Given the description of an element on the screen output the (x, y) to click on. 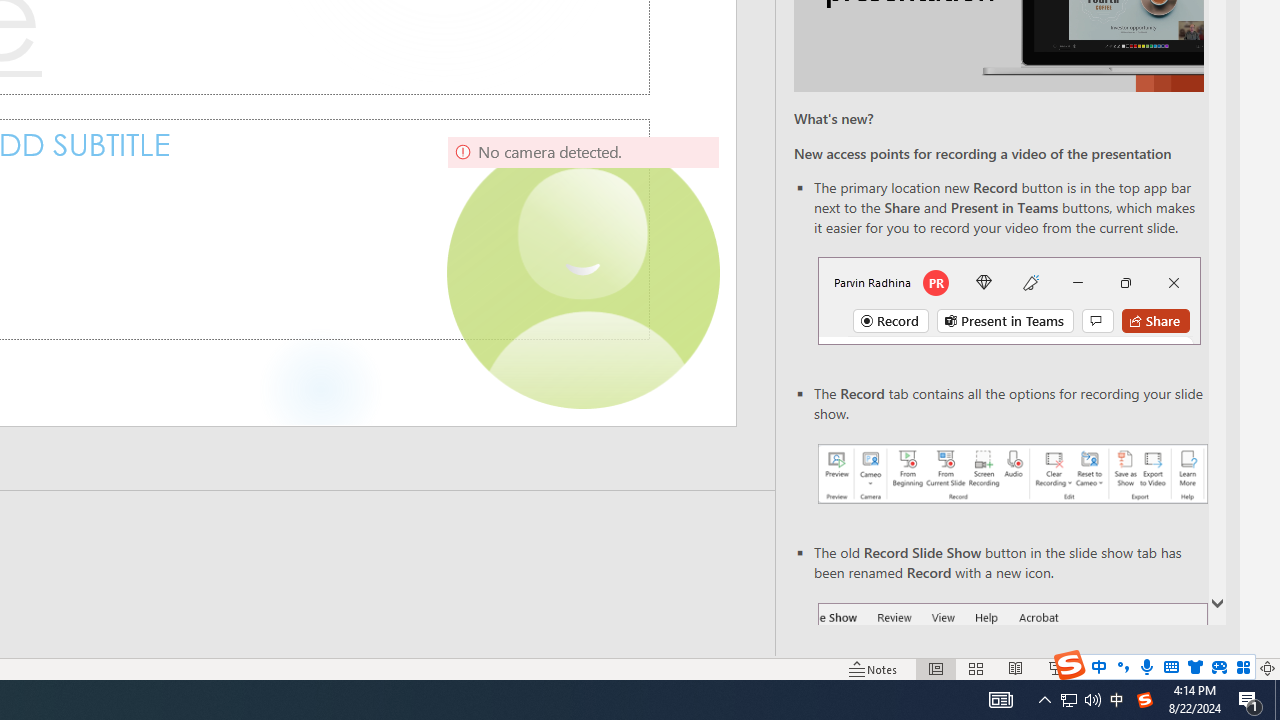
Zoom 129% (1234, 668)
Record button in top bar (1008, 300)
Record your presentations screenshot one (1012, 473)
